Given the description of an element on the screen output the (x, y) to click on. 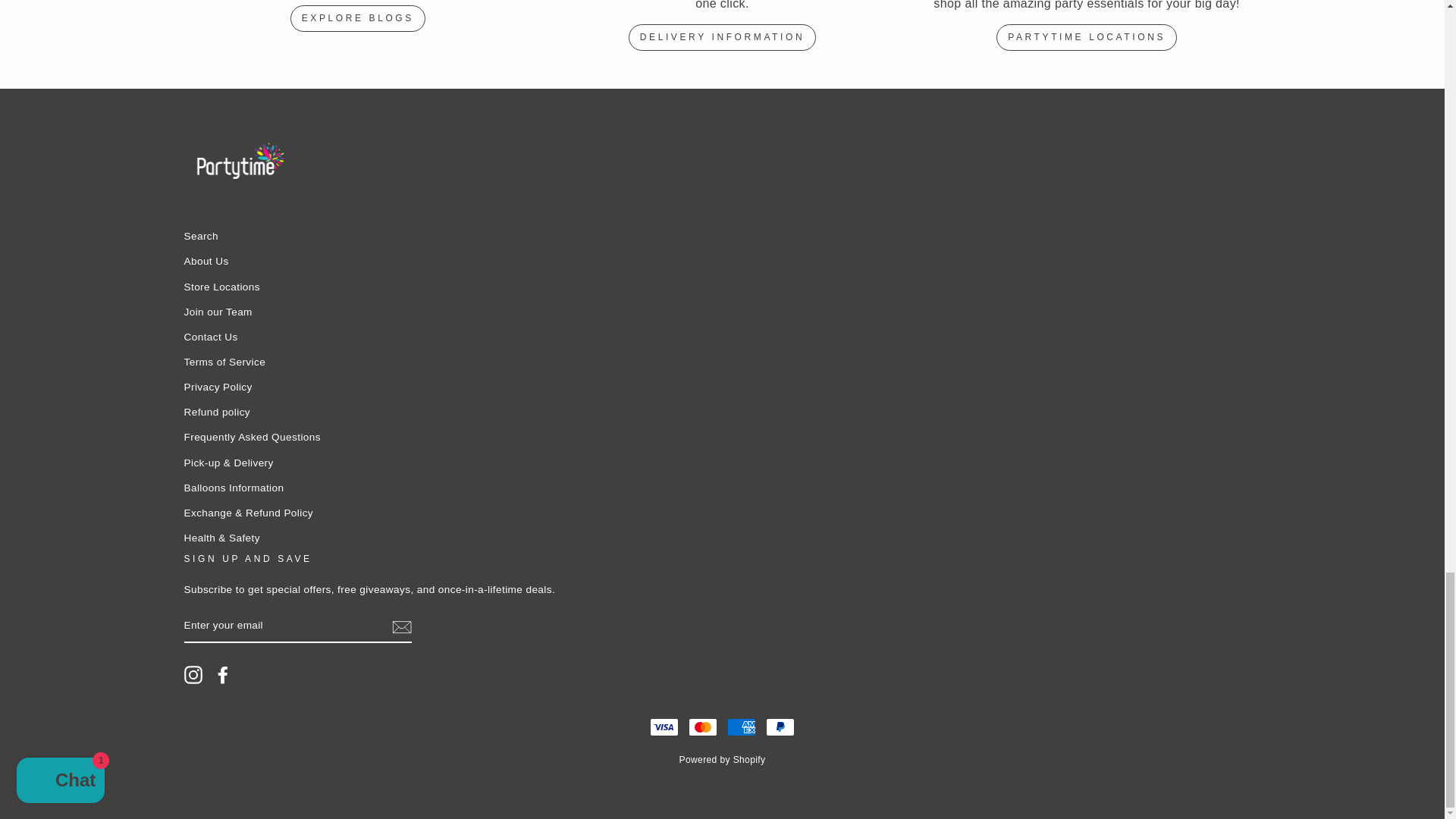
Partytime on Facebook (222, 674)
PayPal (779, 727)
Visa (663, 727)
Mastercard (702, 727)
American Express (740, 727)
Partytime on Instagram (192, 674)
